Given the description of an element on the screen output the (x, y) to click on. 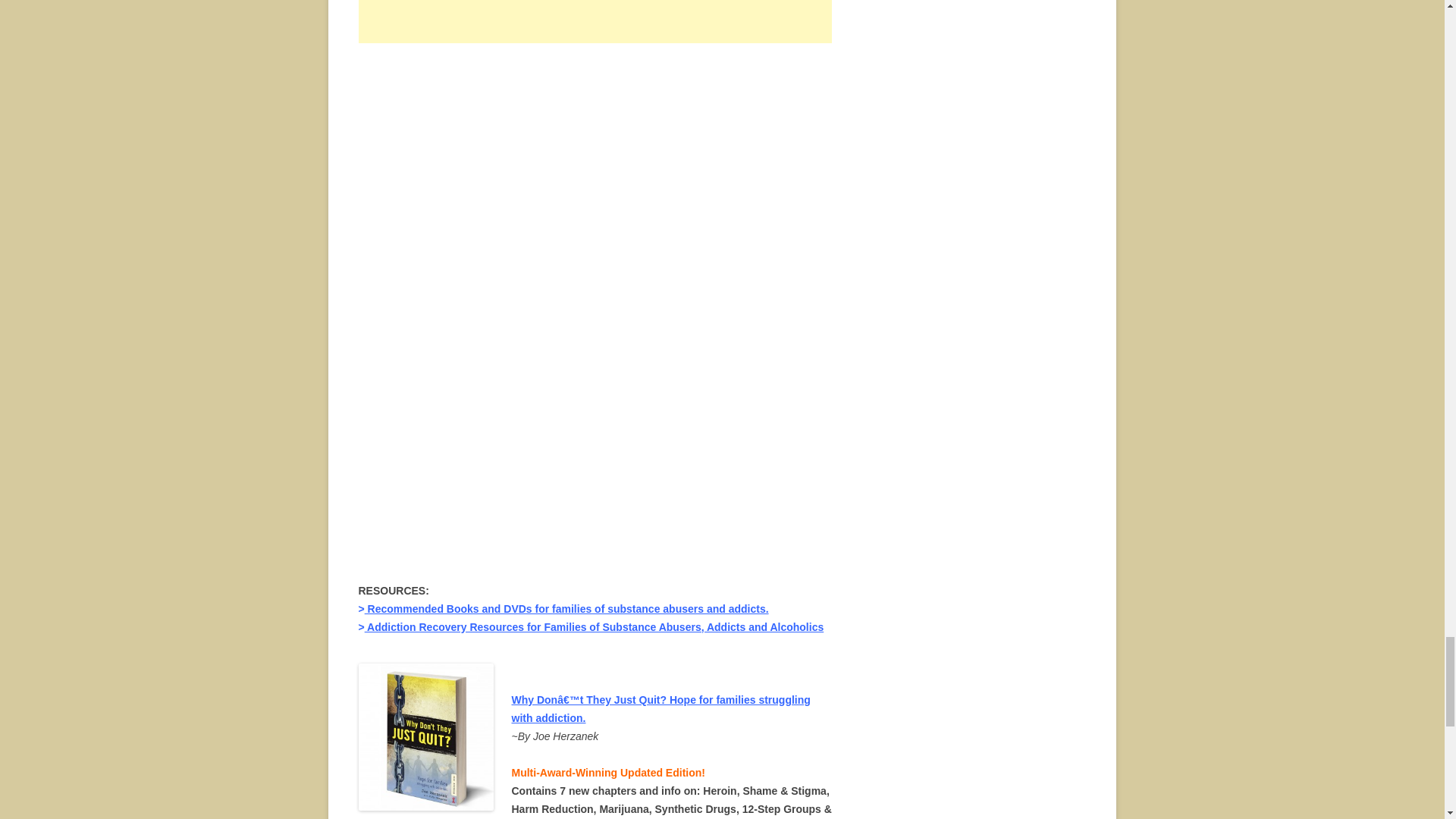
Addiction Recovery Resources (594, 626)
